Given the description of an element on the screen output the (x, y) to click on. 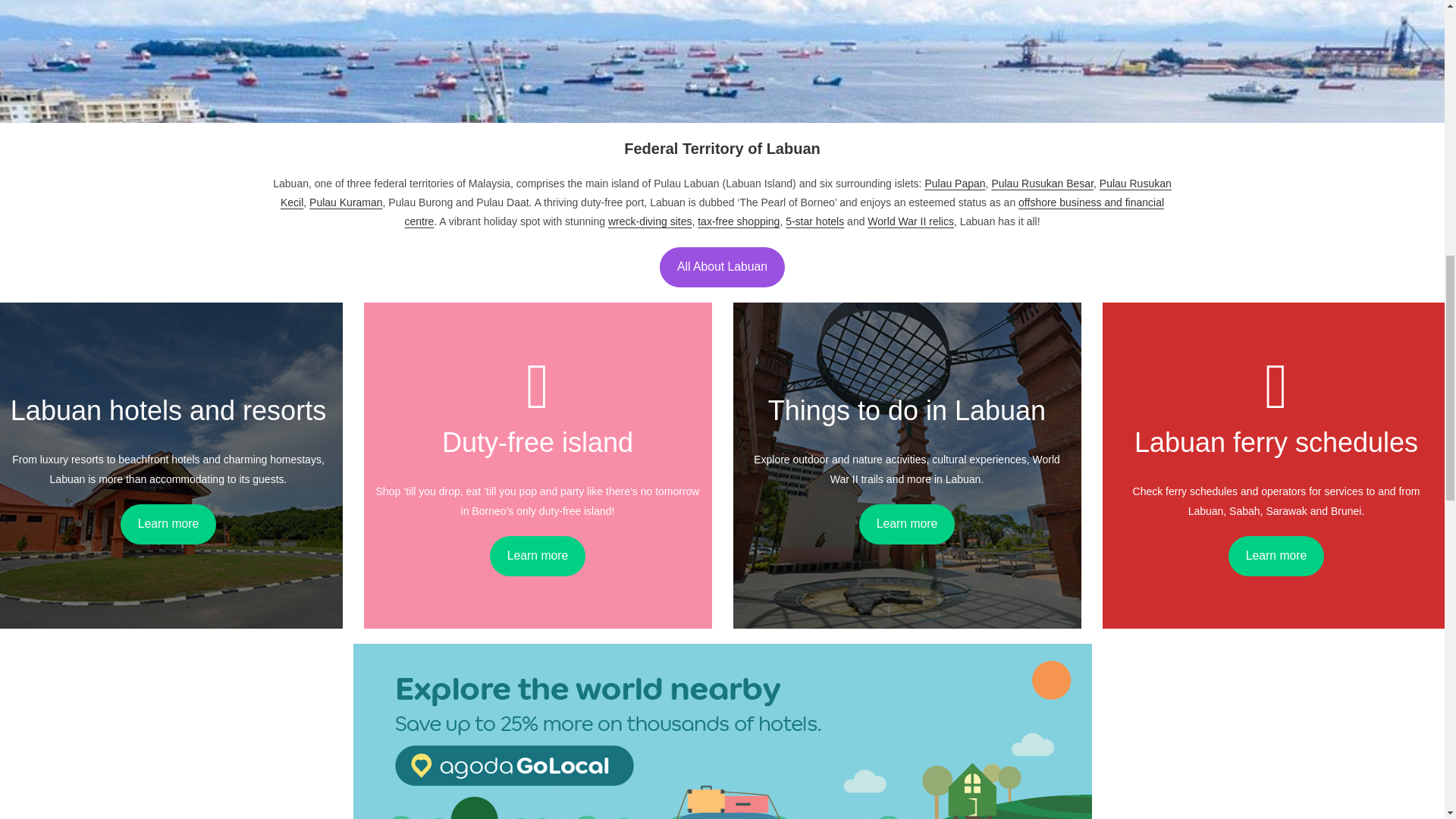
offshore business and financial centre (783, 211)
Learn more (907, 524)
World War II relics (910, 221)
5-star hotels (815, 221)
wreck-diving sites (649, 221)
Learn more (537, 556)
Pulau Rusukan Kecil (726, 192)
Pulau Papan (954, 183)
Learn more (1276, 556)
tax-free shopping (737, 221)
